Given the description of an element on the screen output the (x, y) to click on. 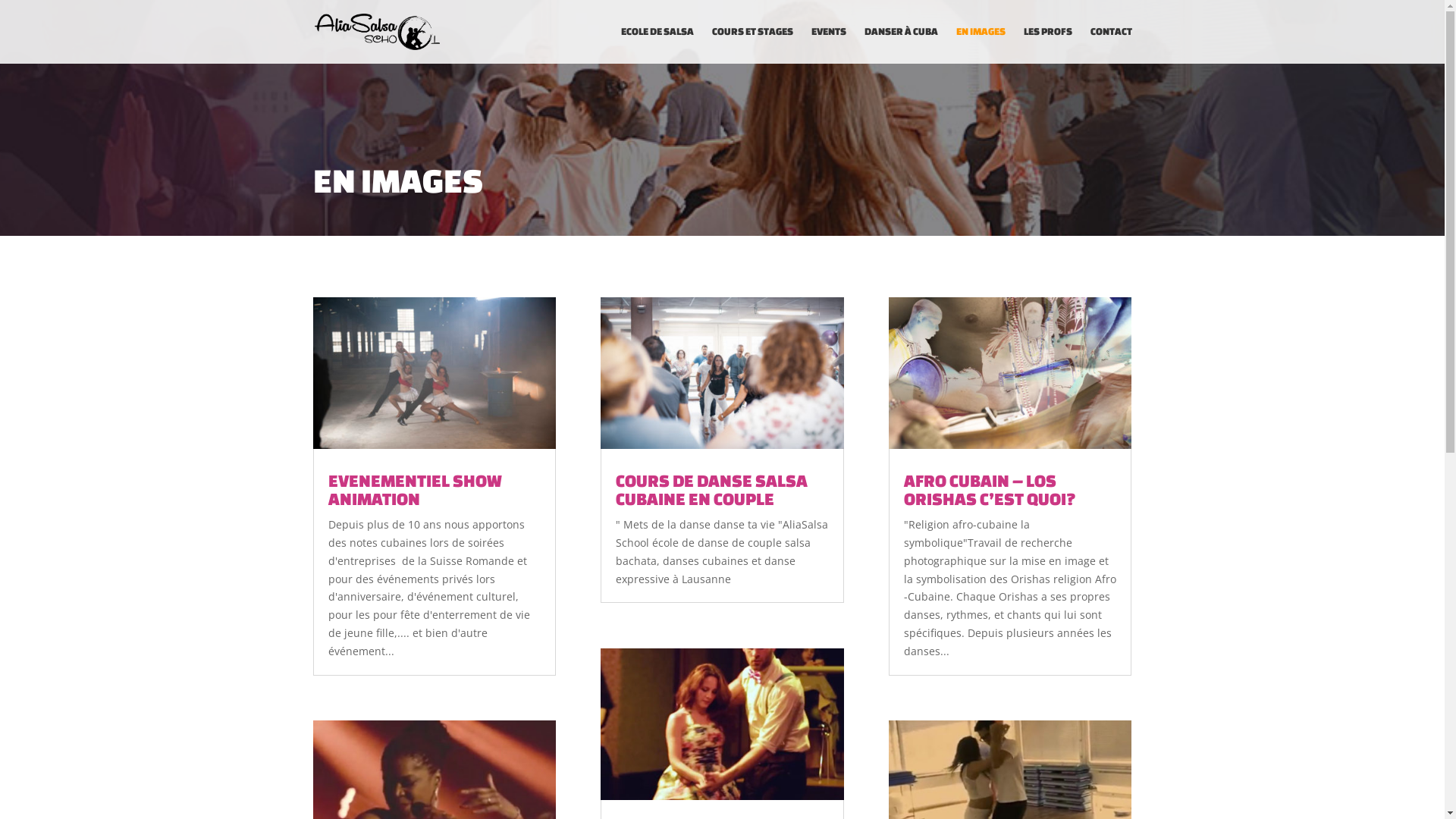
ECOLE DE SALSA Element type: text (656, 44)
LES PROFS Element type: text (1047, 44)
COURS ET STAGES Element type: text (751, 44)
CONTACT Element type: text (1111, 44)
EN IMAGES Element type: text (979, 44)
EVENTS Element type: text (828, 44)
COURS DE DANSE SALSA CUBAINE EN COUPLE Element type: text (711, 489)
EVENEMENTIEL SHOW ANIMATION Element type: text (414, 489)
